Given the description of an element on the screen output the (x, y) to click on. 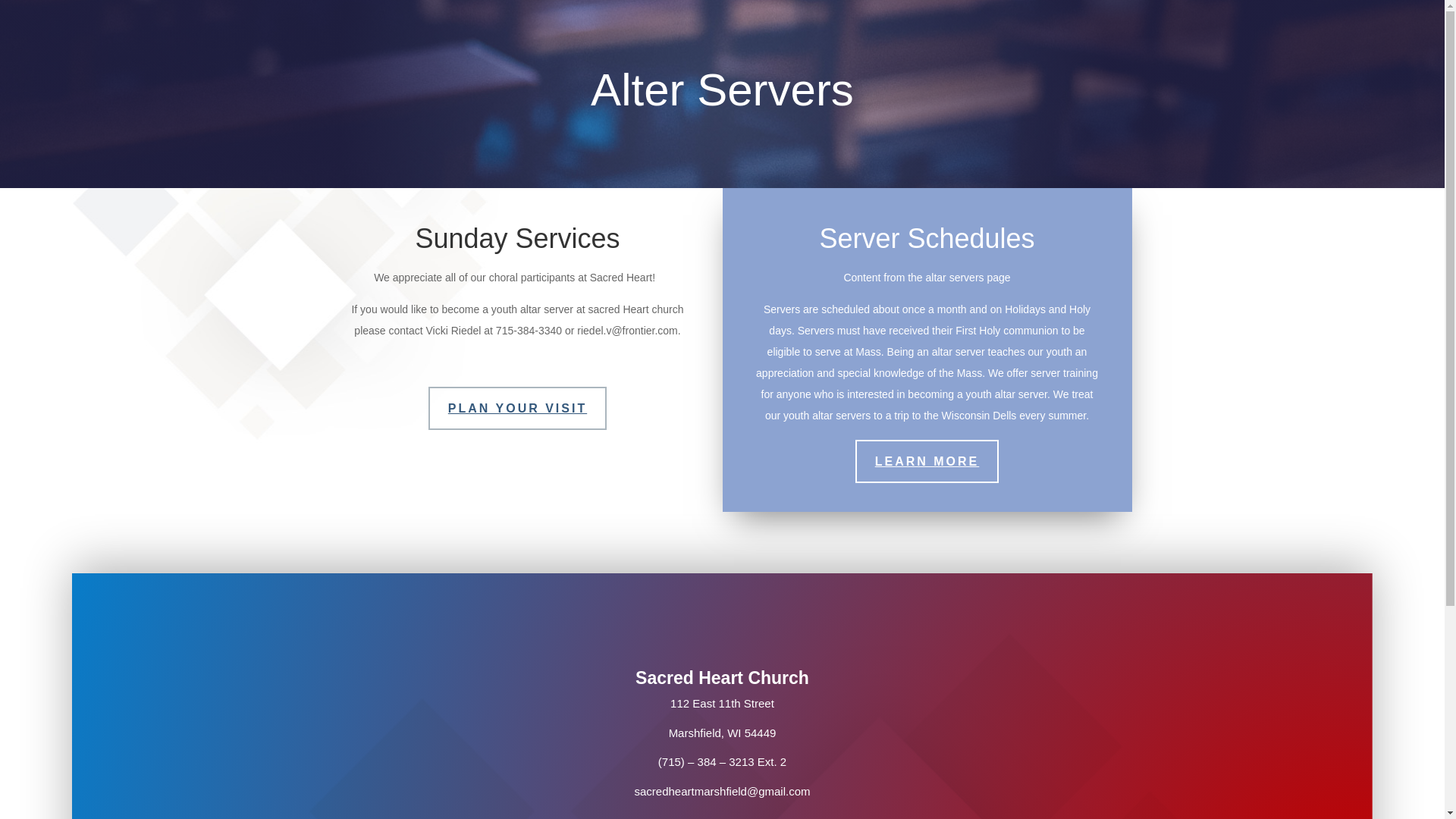
PLAN YOUR VISIT (517, 408)
LEARN MORE (927, 461)
